Given the description of an element on the screen output the (x, y) to click on. 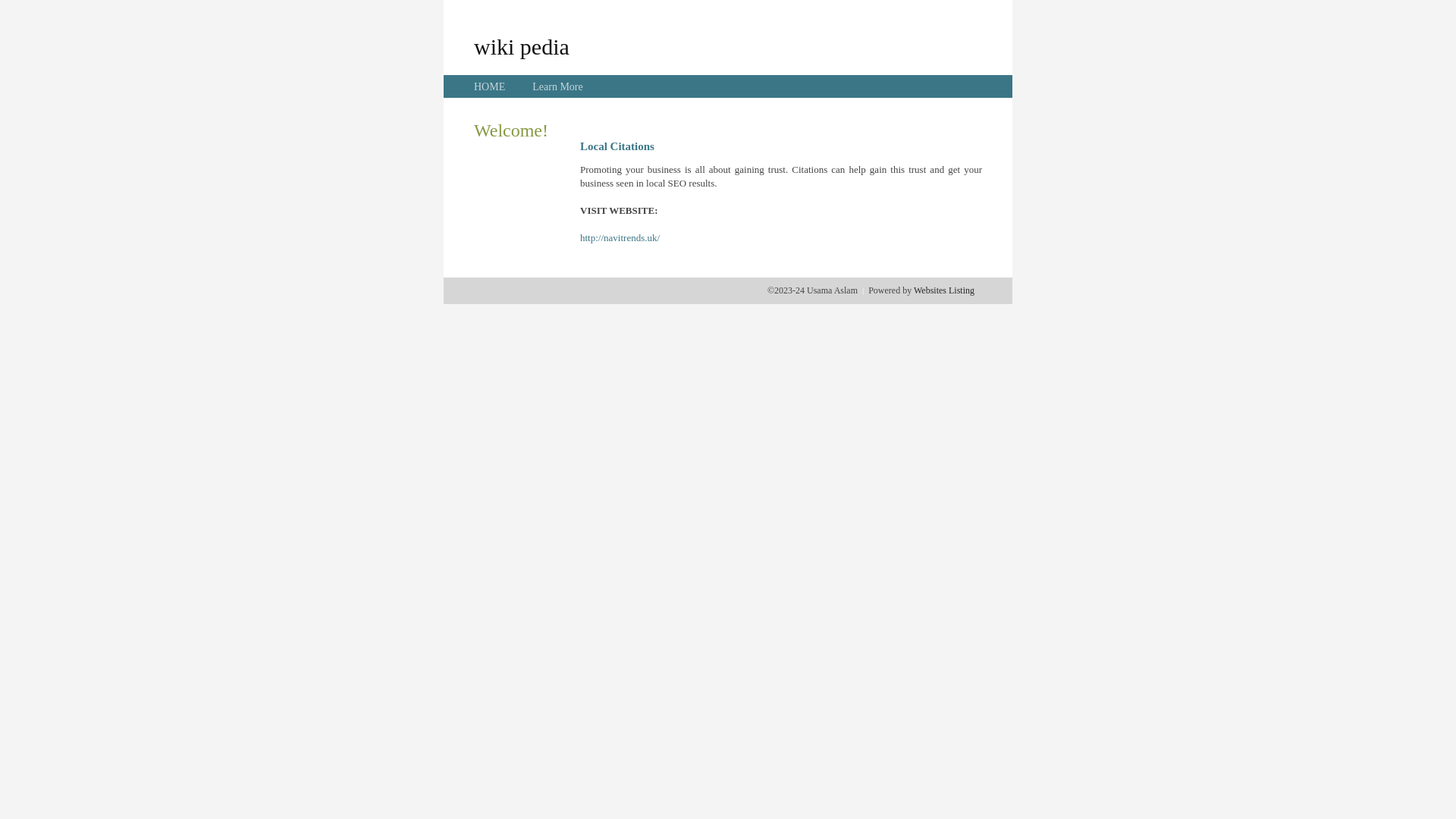
Learn More Element type: text (557, 86)
http://navitrends.uk/ Element type: text (619, 237)
Websites Listing Element type: text (943, 290)
HOME Element type: text (489, 86)
wiki pedia Element type: text (521, 46)
